Given the description of an element on the screen output the (x, y) to click on. 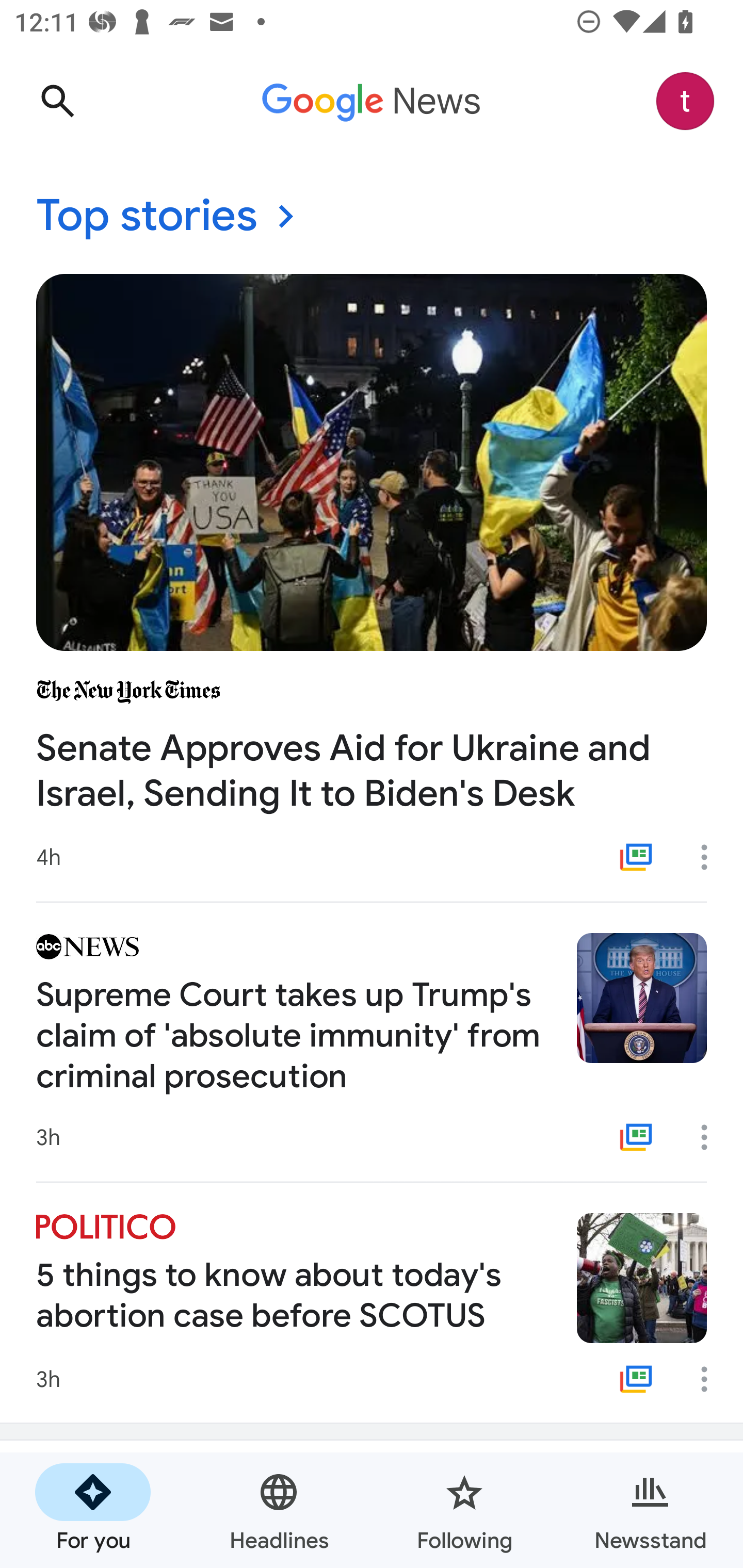
Search (57, 100)
Top stories (371, 216)
More options (711, 856)
More options (711, 1137)
More options (711, 1378)
For you (92, 1509)
Headlines (278, 1509)
Following (464, 1509)
Newsstand (650, 1509)
